Given the description of an element on the screen output the (x, y) to click on. 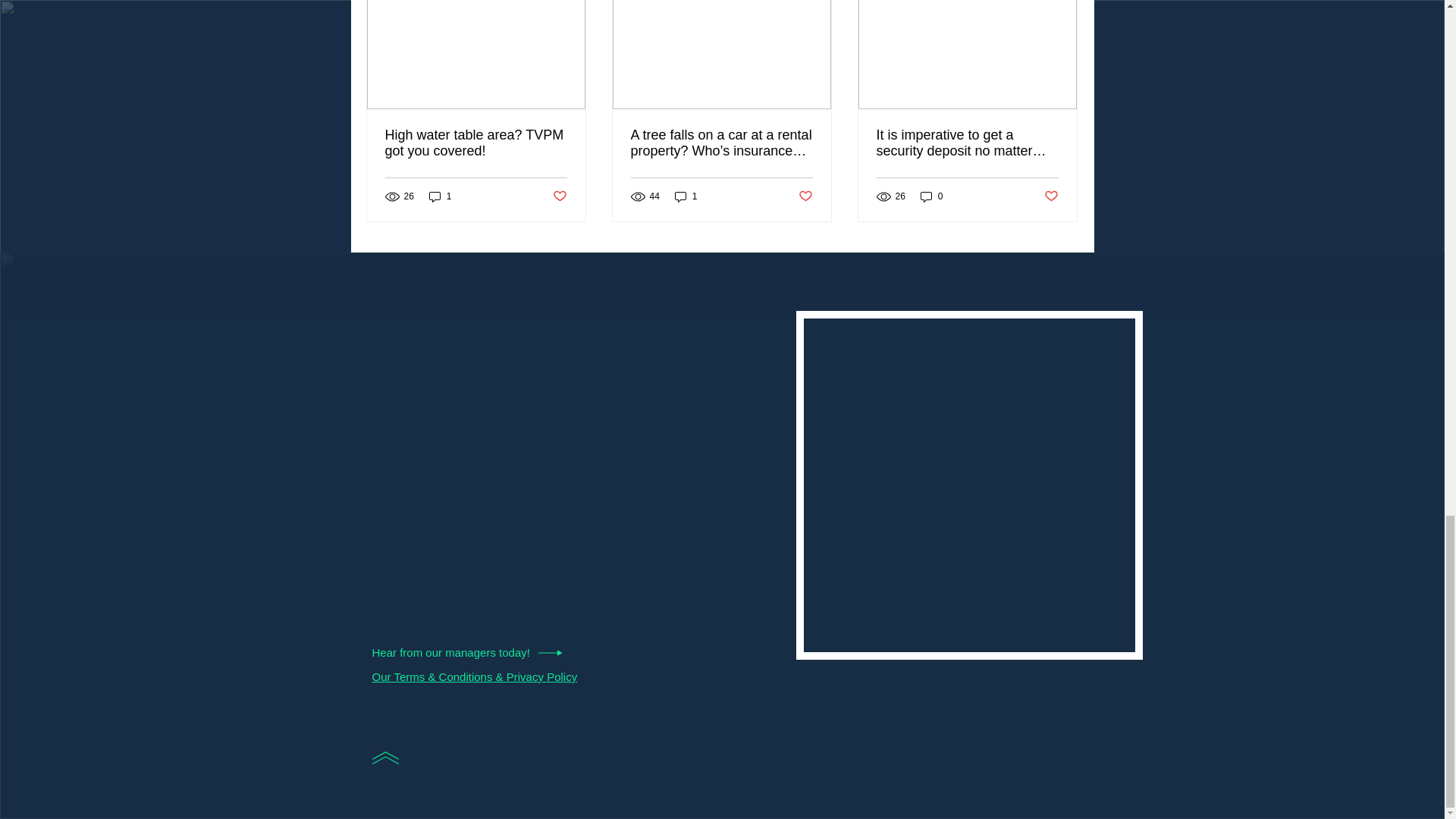
Post not marked as liked (558, 196)
Post not marked as liked (804, 196)
1 (685, 196)
1 (440, 196)
High water table area? TVPM got you covered! (476, 142)
0 (931, 196)
Post not marked as liked (1050, 196)
